Given the description of an element on the screen output the (x, y) to click on. 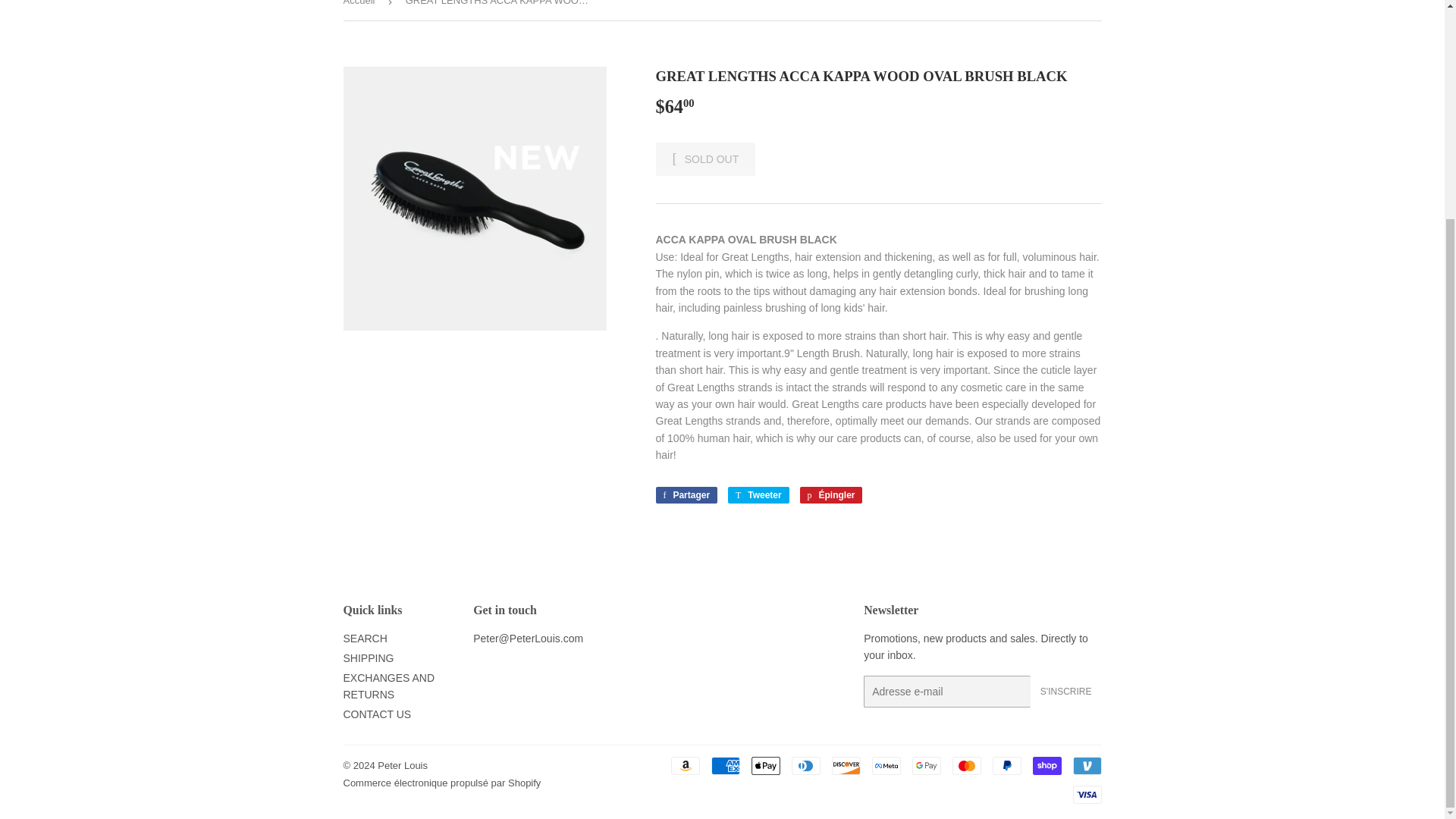
Amazon (683, 765)
Meta Pay (886, 765)
Venmo (1085, 765)
Tweeter sur Twitter (758, 494)
Partager sur Facebook (686, 494)
PayPal (1005, 765)
Visa (1085, 794)
Google Pay (925, 765)
Shop Pay (1046, 765)
American Express (725, 765)
Apple Pay (764, 765)
Diners Club (806, 765)
Discover (845, 765)
Mastercard (966, 765)
